Given the description of an element on the screen output the (x, y) to click on. 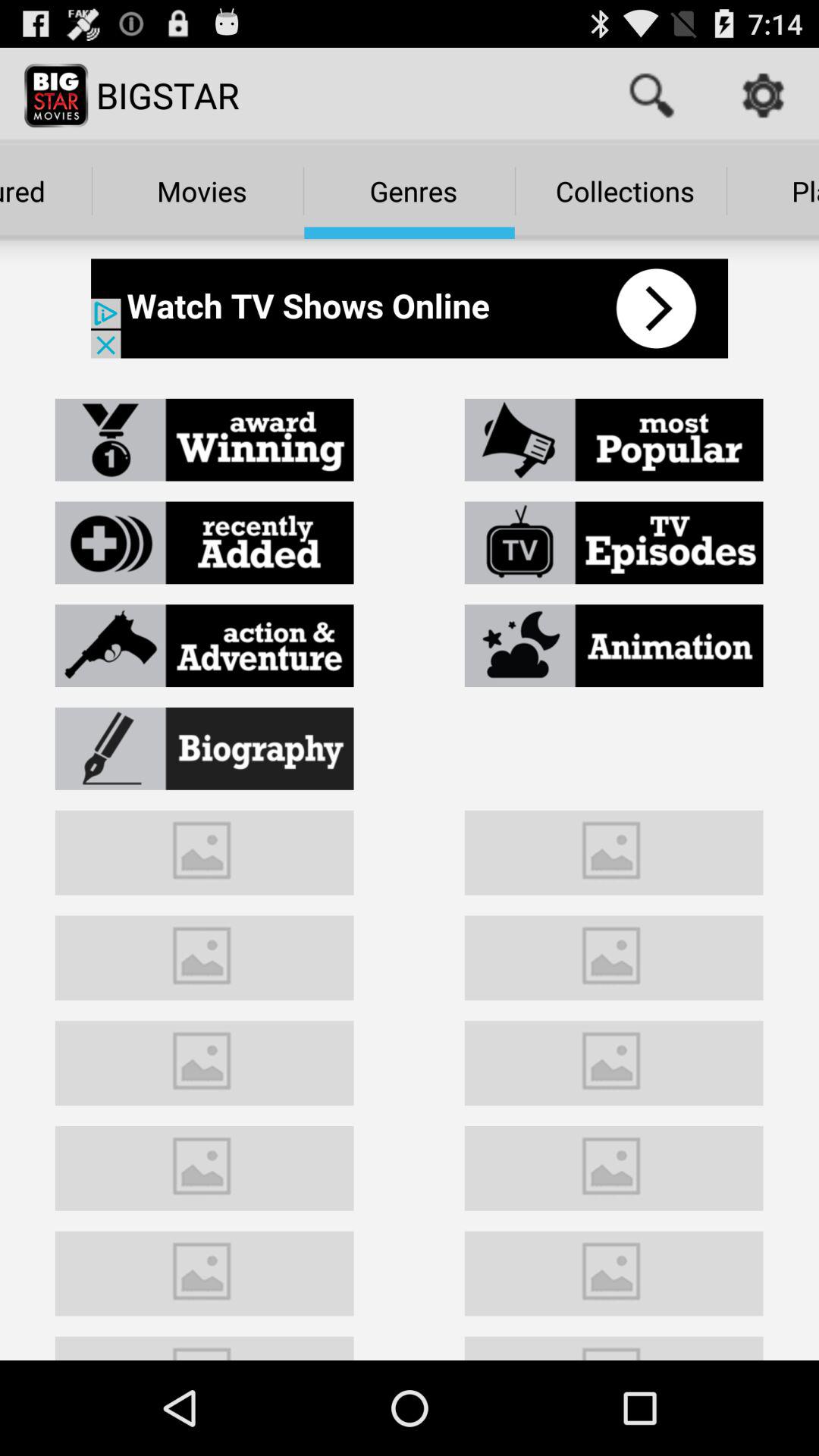
go to the third image below animation (614, 1060)
click on settings button which is at top right corner of the page (763, 95)
tap on the second image below animation at the right side of the page (614, 955)
click on the icon above animation (614, 542)
click on movies which is below bigstar (197, 190)
